Given the description of an element on the screen output the (x, y) to click on. 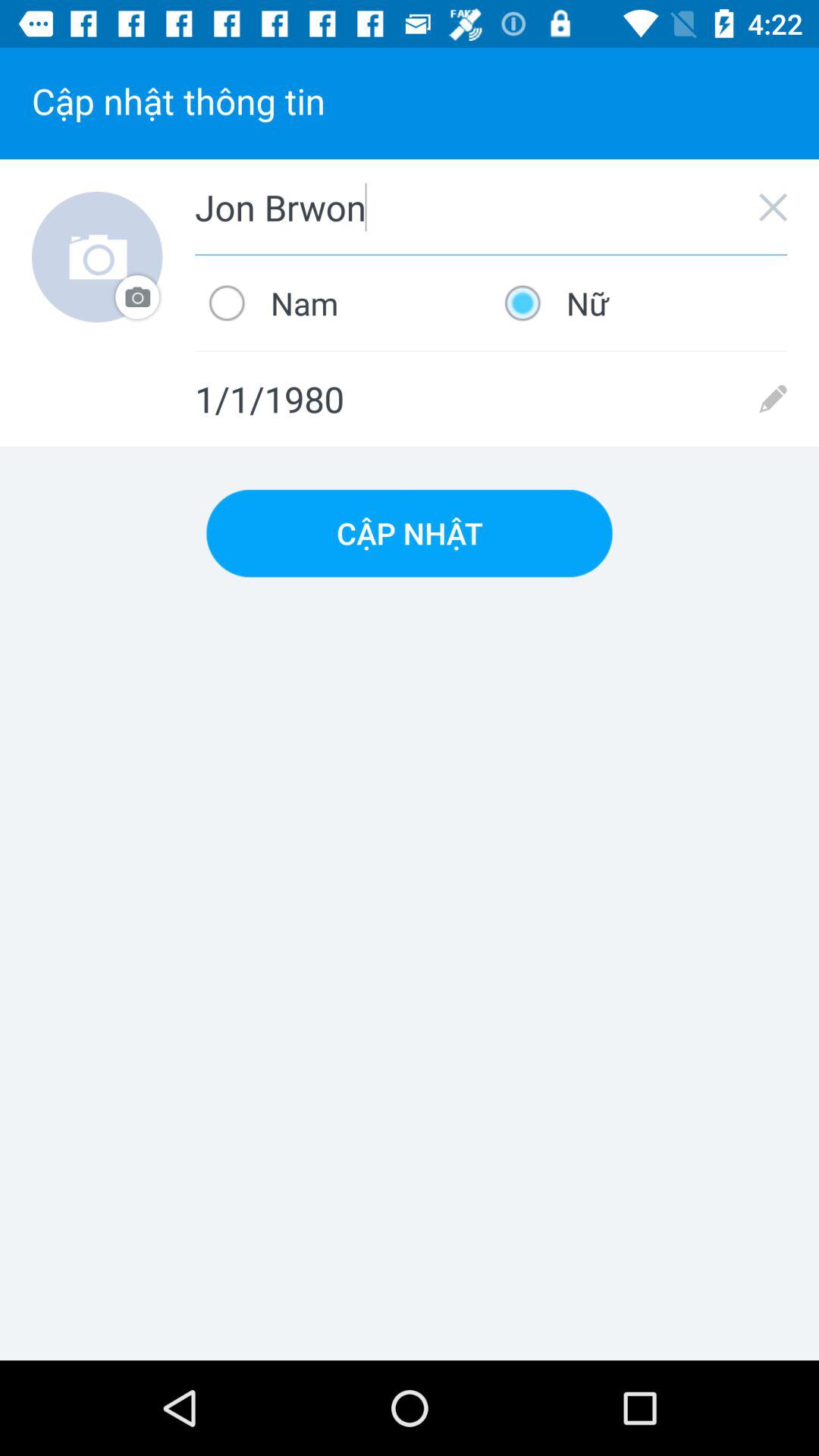
turn on item above the nam icon (491, 207)
